Given the description of an element on the screen output the (x, y) to click on. 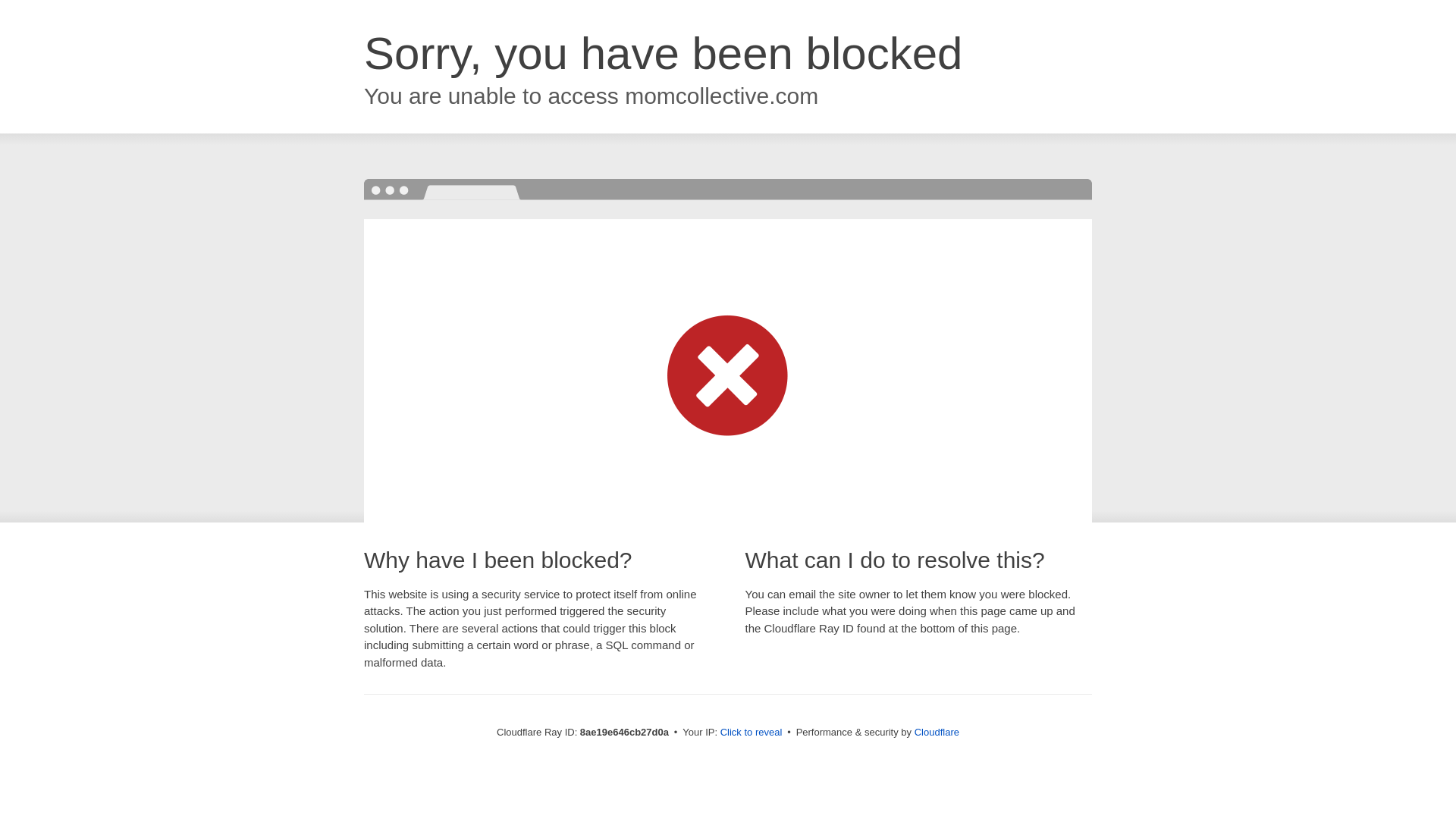
Click to reveal (751, 732)
Cloudflare (936, 731)
